Given the description of an element on the screen output the (x, y) to click on. 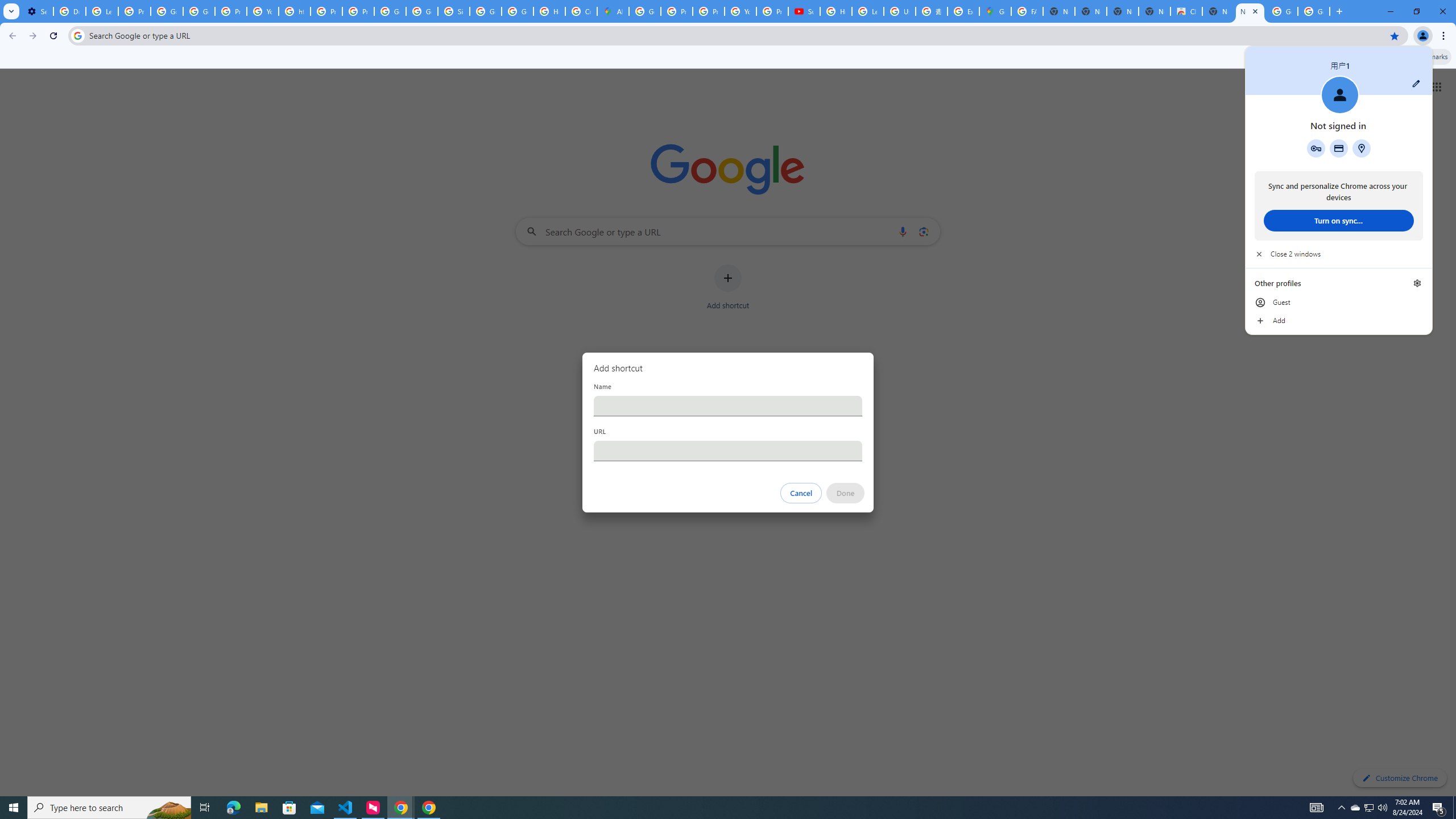
Privacy Help Center - Policies Help (676, 11)
Google Images (1313, 11)
Task View (204, 807)
File Explorer (261, 807)
